Given the description of an element on the screen output the (x, y) to click on. 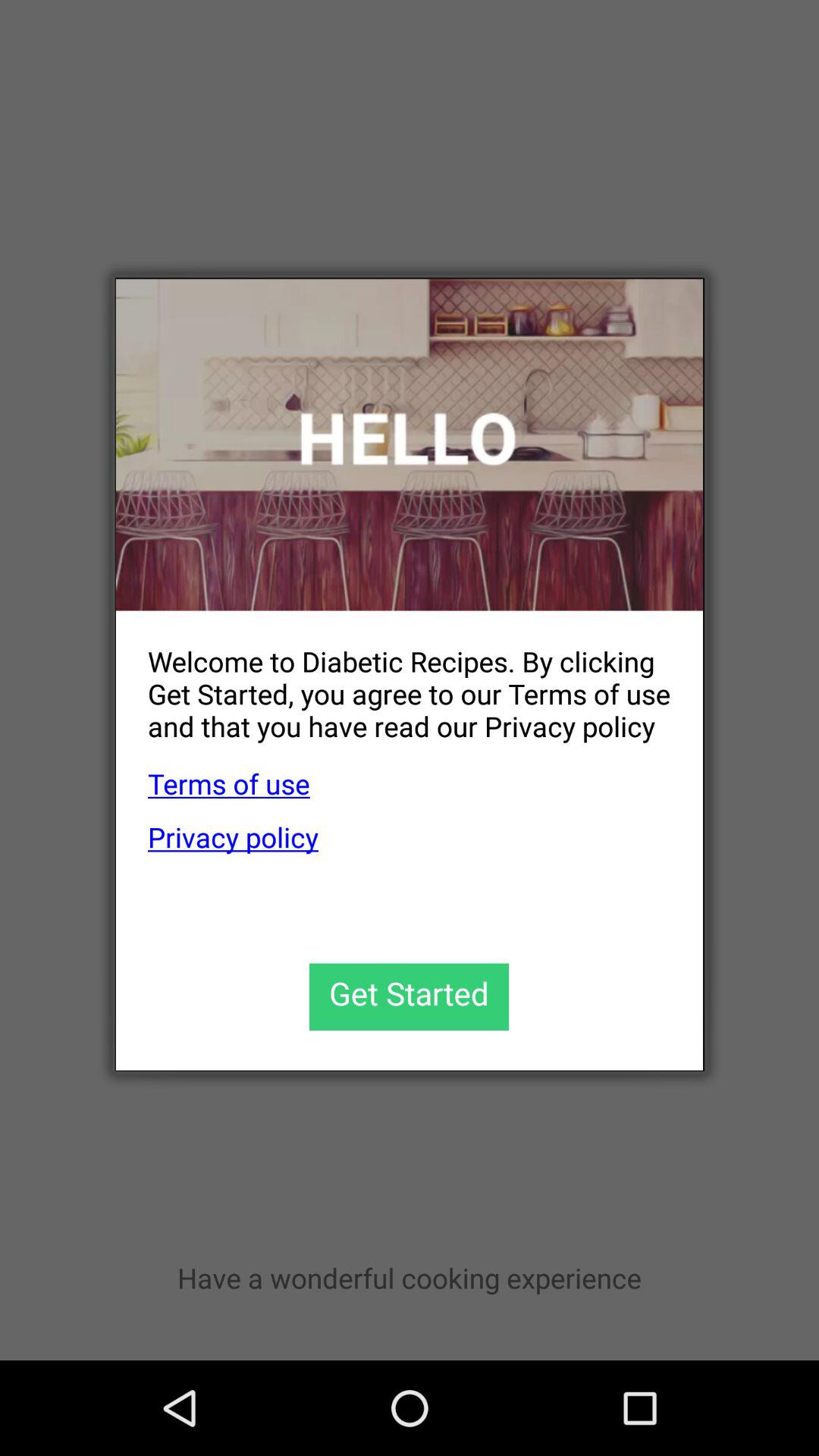
turn off the icon below privacy policy app (409, 996)
